Given the description of an element on the screen output the (x, y) to click on. 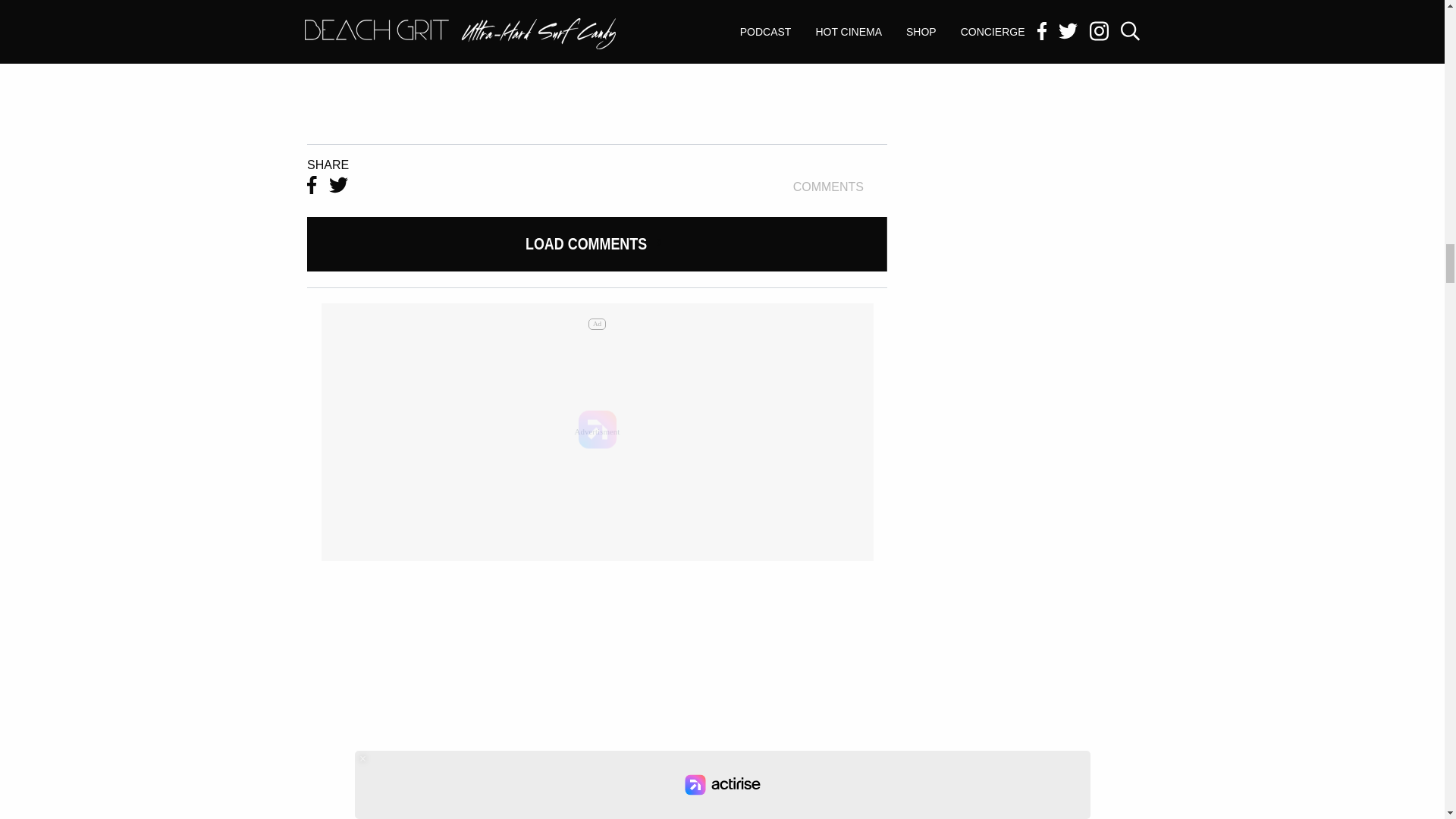
Share on Twitter (839, 187)
